Given the description of an element on the screen output the (x, y) to click on. 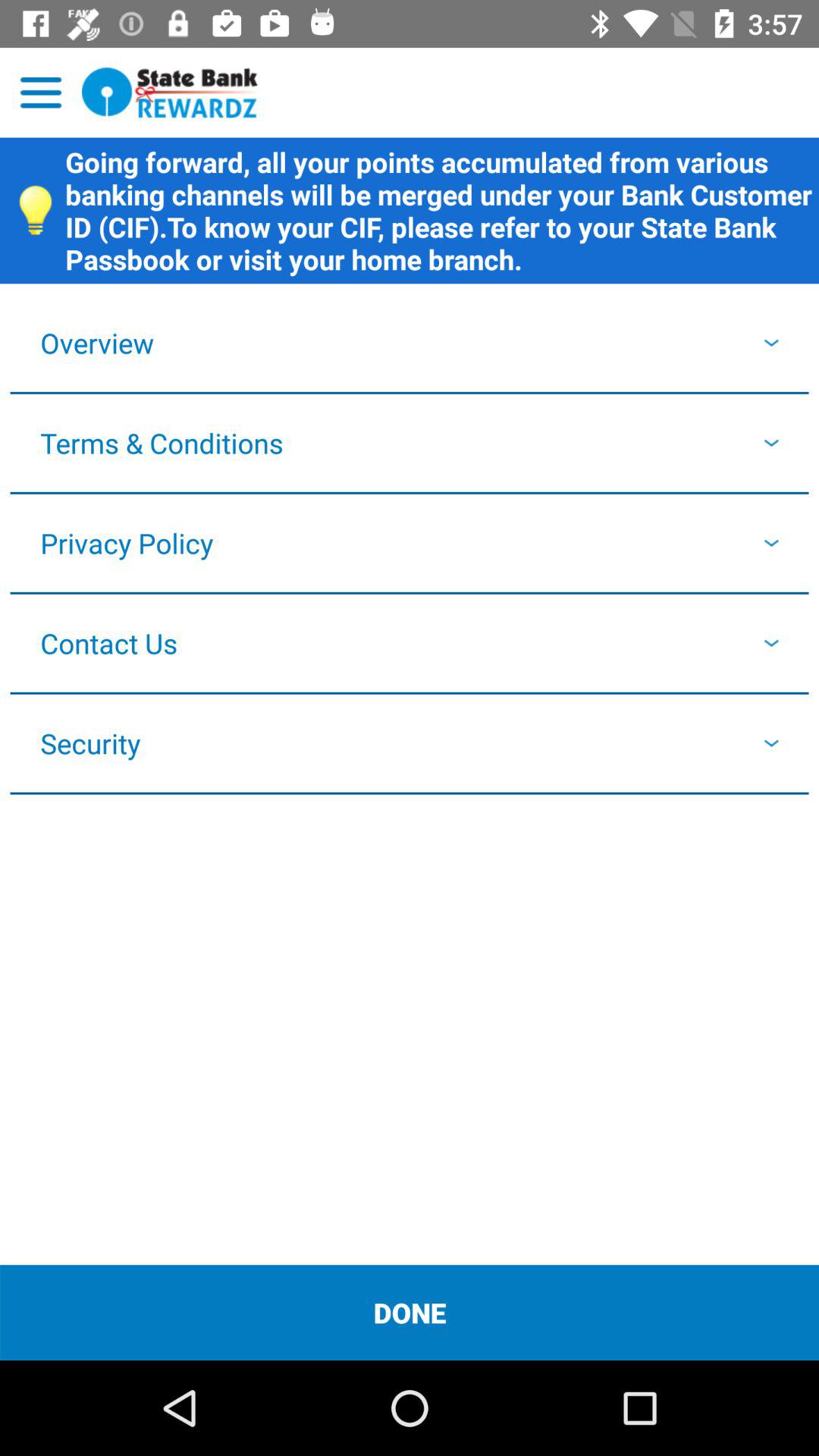
select state bank rewardz (169, 92)
